Given the description of an element on the screen output the (x, y) to click on. 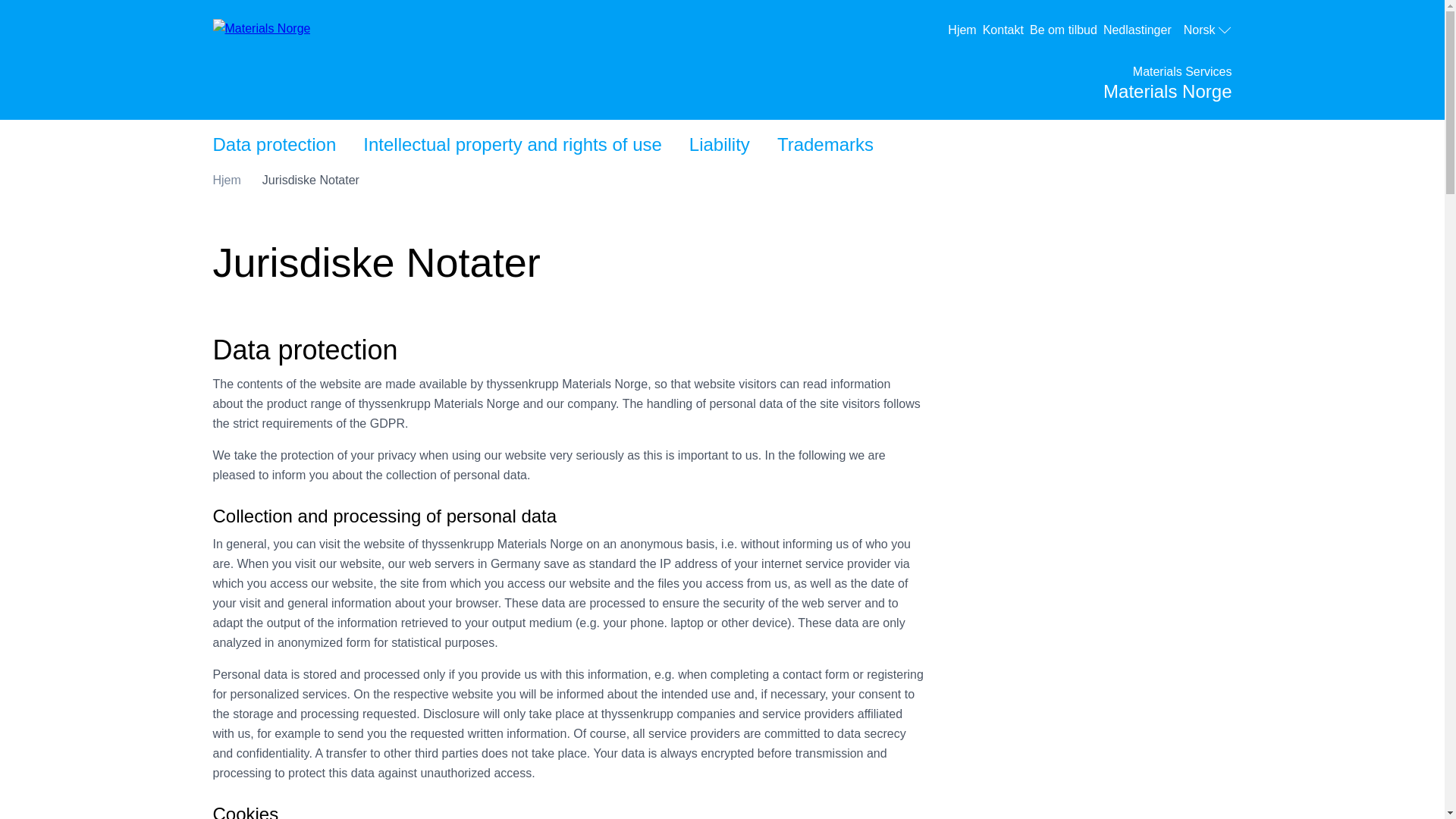
Nedlastinger (1140, 30)
Be om tilbud (1207, 29)
Hjem (1066, 30)
Hjem (964, 30)
Data protection (226, 179)
Intellectual property and rights of use (273, 144)
Kontakt (512, 144)
Liability (1005, 30)
arrow-down (718, 144)
